Given the description of an element on the screen output the (x, y) to click on. 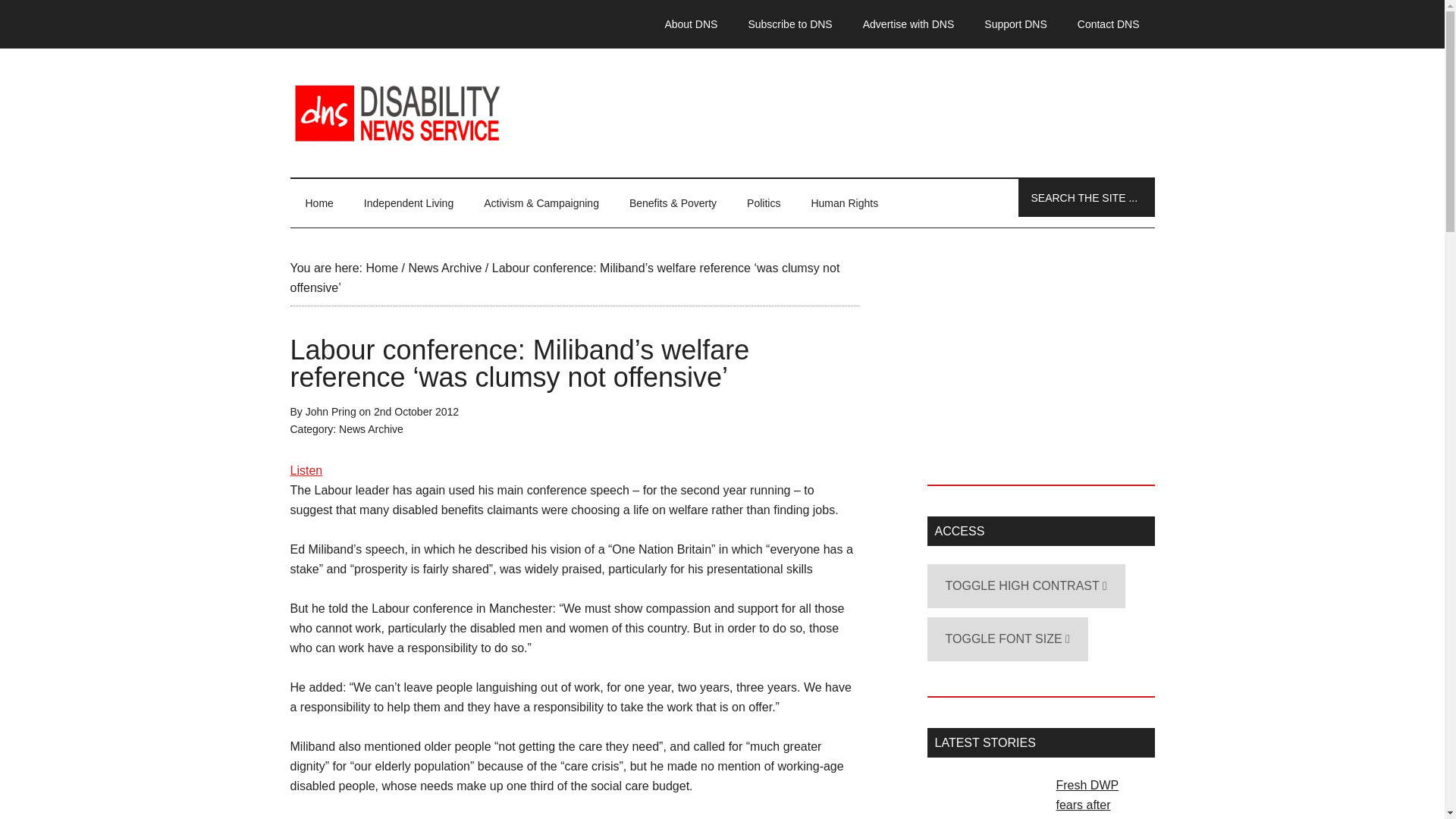
John Pring (330, 411)
Home (381, 267)
Advertise with DNS (908, 24)
News Archive (371, 428)
Human Rights (843, 203)
Support DNS (1015, 24)
Independent Living (408, 203)
